Given the description of an element on the screen output the (x, y) to click on. 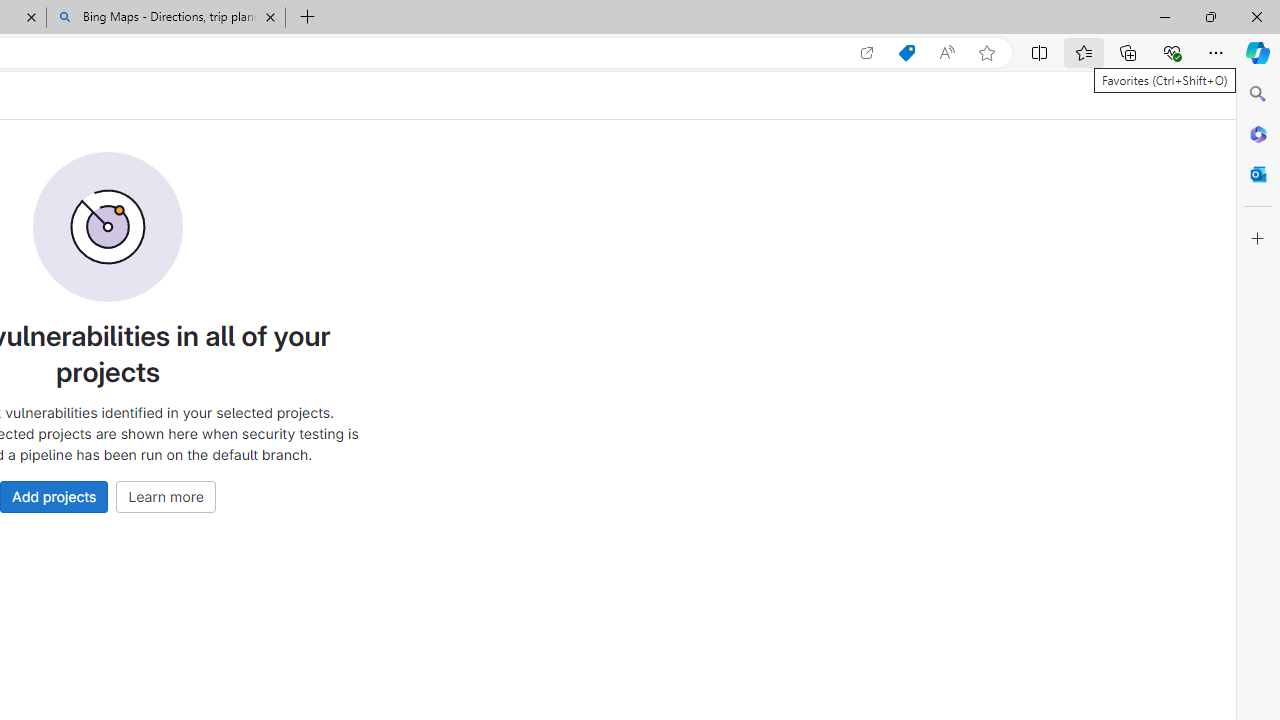
Learn more (166, 496)
Add projects (54, 496)
Shopping in Microsoft Edge (906, 53)
Customize (1258, 239)
Outlook (1258, 174)
